Given the description of an element on the screen output the (x, y) to click on. 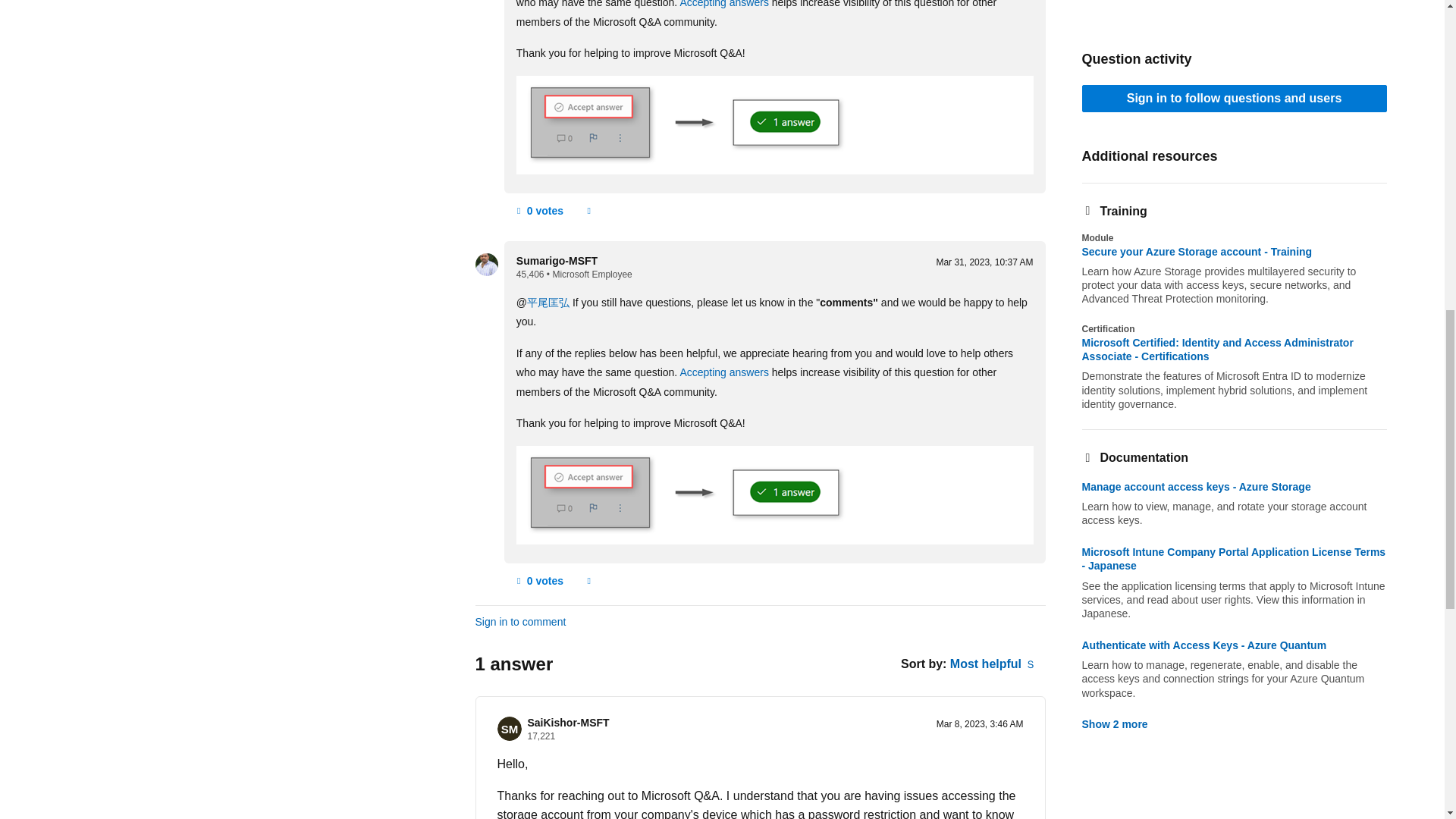
Reputation points (530, 274)
Report a concern (588, 211)
This comment is helpful (538, 211)
